Given the description of an element on the screen output the (x, y) to click on. 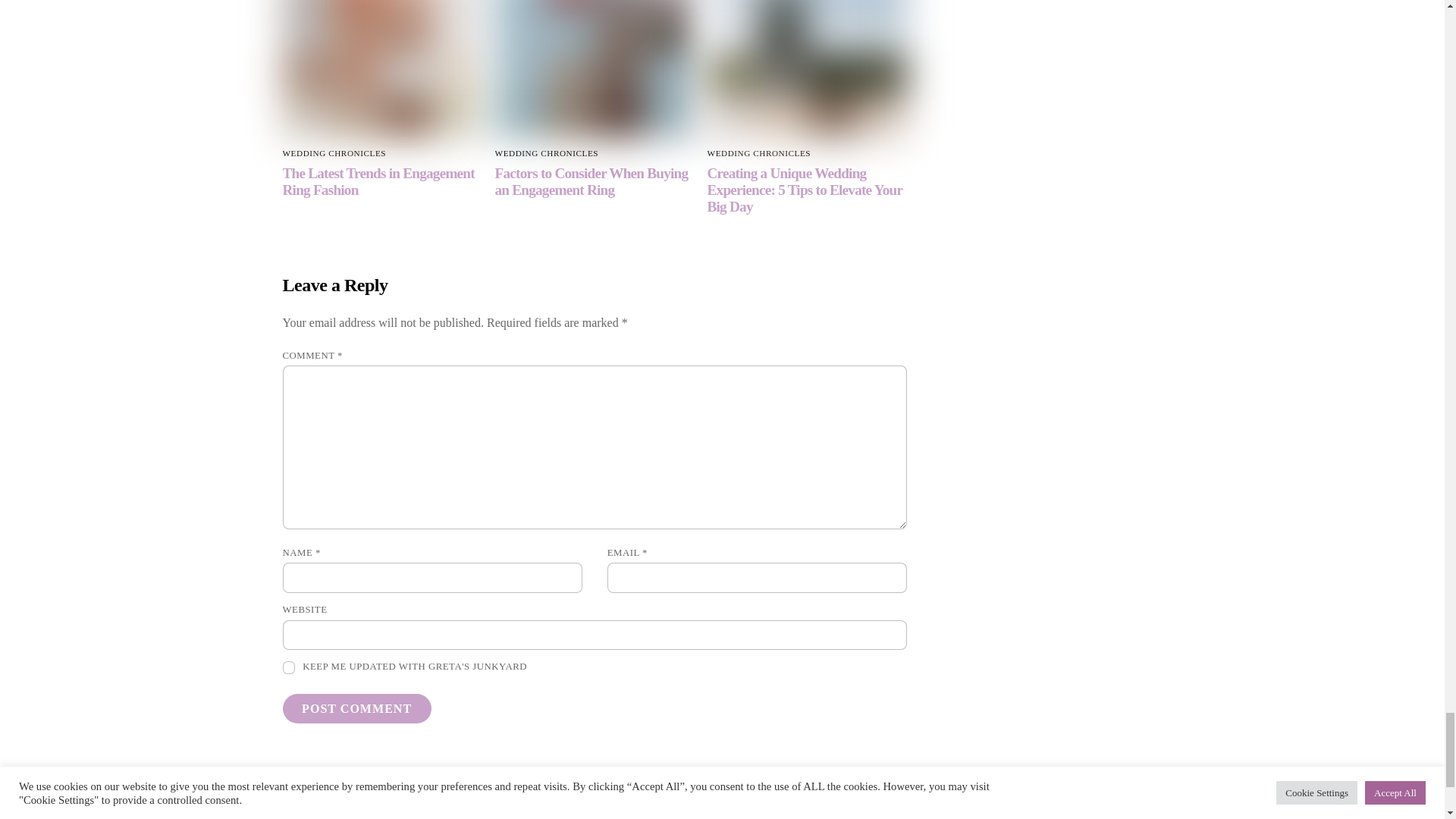
destination wedding 1 (807, 599)
engagement ring fashion 2 (381, 599)
